Given the description of an element on the screen output the (x, y) to click on. 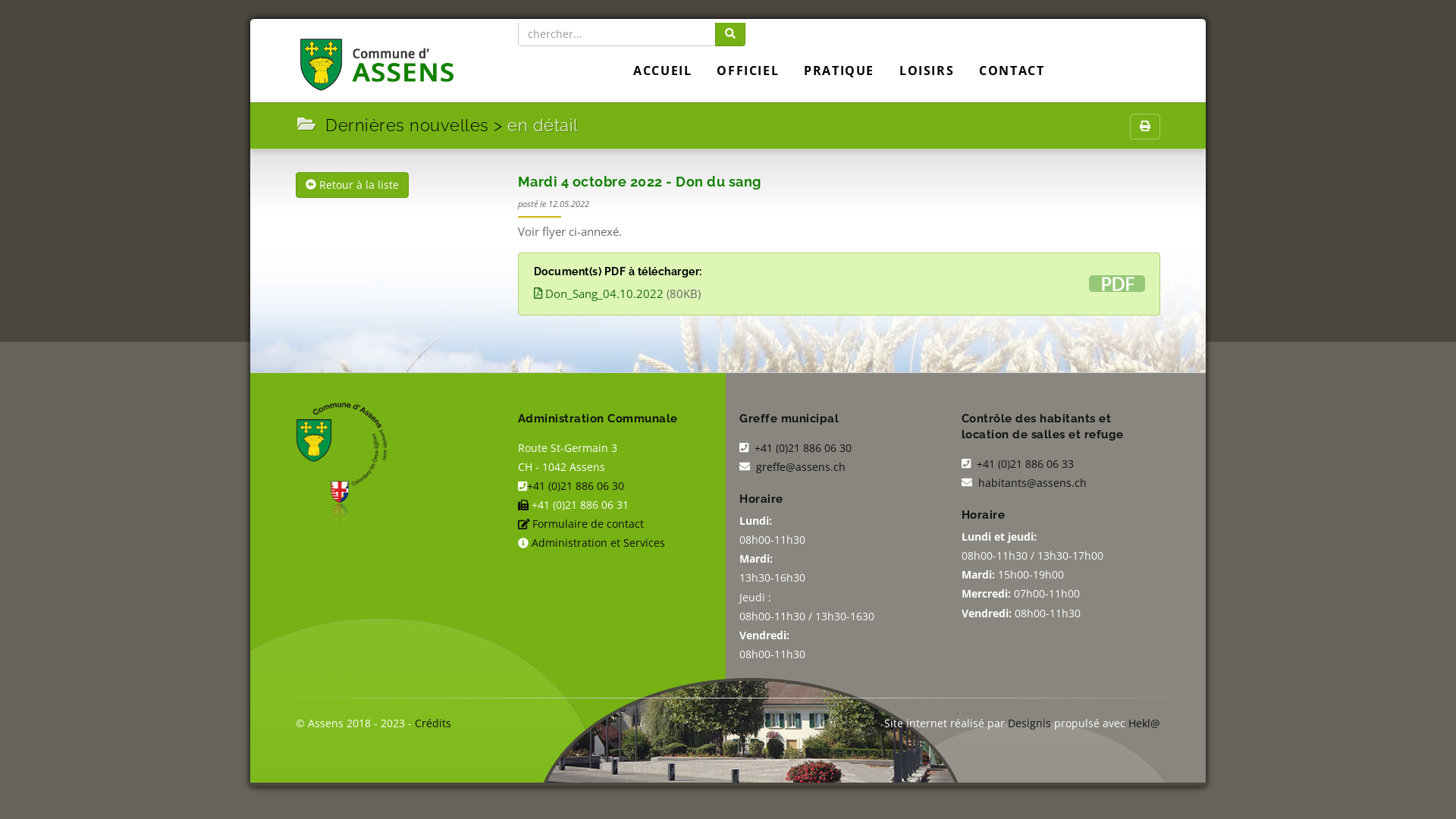
+41 (0)21 886 06 30 Element type: text (801, 446)
PRATIQUE Element type: text (838, 69)
OFFICIEL Element type: text (747, 69)
Administration et Services Element type: text (597, 542)
habitants@assens.ch Element type: text (1032, 482)
Formulaire de contact Element type: text (587, 523)
+41 (0)21 886 06 30 Element type: text (575, 485)
greffe@assens.ch Element type: text (800, 466)
CONTACT Element type: text (1011, 69)
Designis Element type: text (1029, 722)
Don_Sang_04.10.2022 Element type: text (598, 292)
Hekl@ Element type: text (1144, 722)
+41 (0)21 886 06 33 Element type: text (1023, 463)
ACCUEIL Element type: text (662, 69)
LOISIRS Element type: text (926, 69)
